Given the description of an element on the screen output the (x, y) to click on. 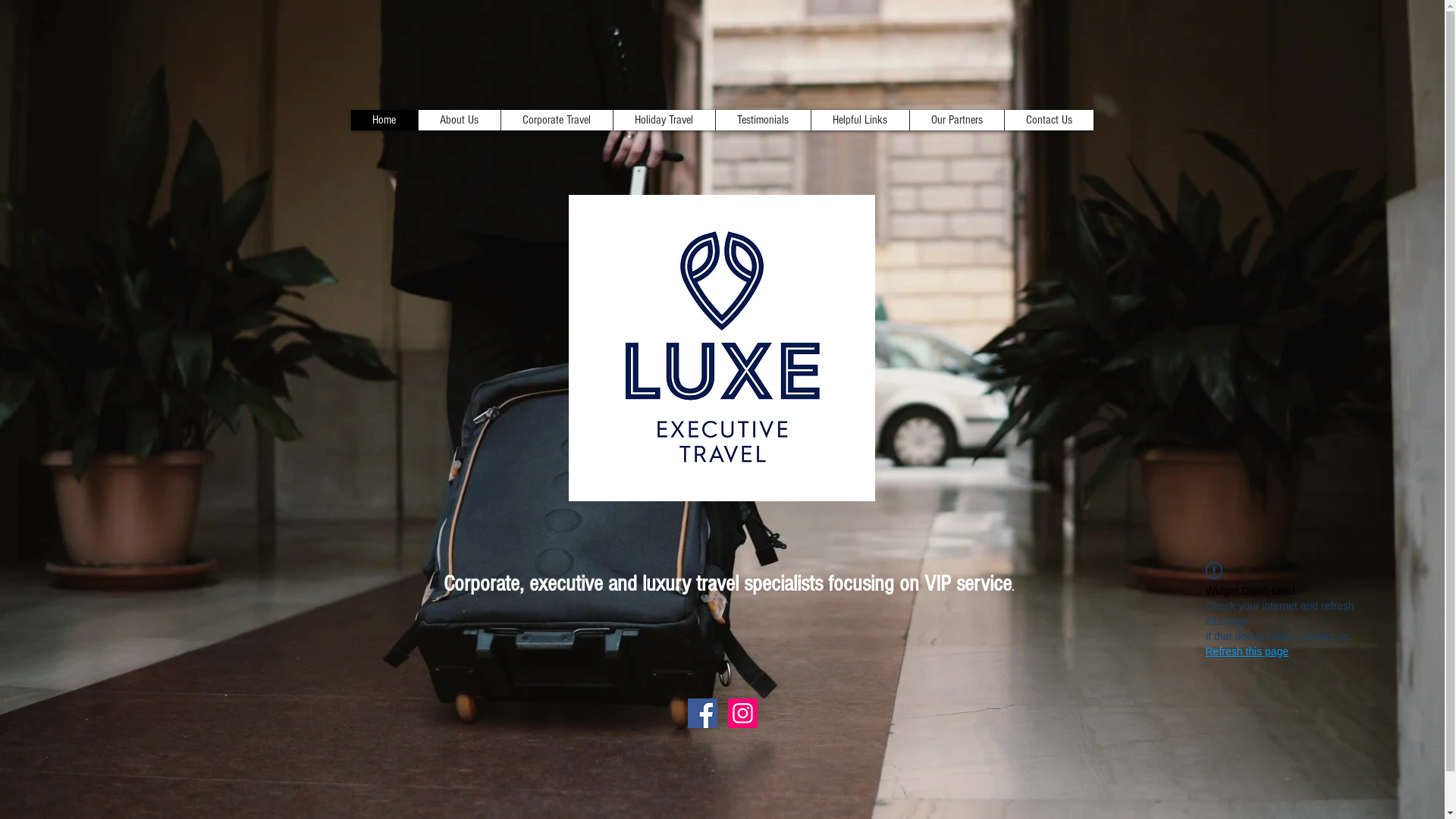
About Us Element type: text (458, 119)
Corporate Travel Element type: text (556, 119)
Home Element type: text (383, 119)
Contact Us Element type: text (1048, 119)
Helpful Links Element type: text (858, 119)
Refresh this page Element type: text (1247, 650)
Holiday Travel Element type: text (663, 119)
Our Partners Element type: text (955, 119)
Testimonials Element type: text (761, 119)
